Given the description of an element on the screen output the (x, y) to click on. 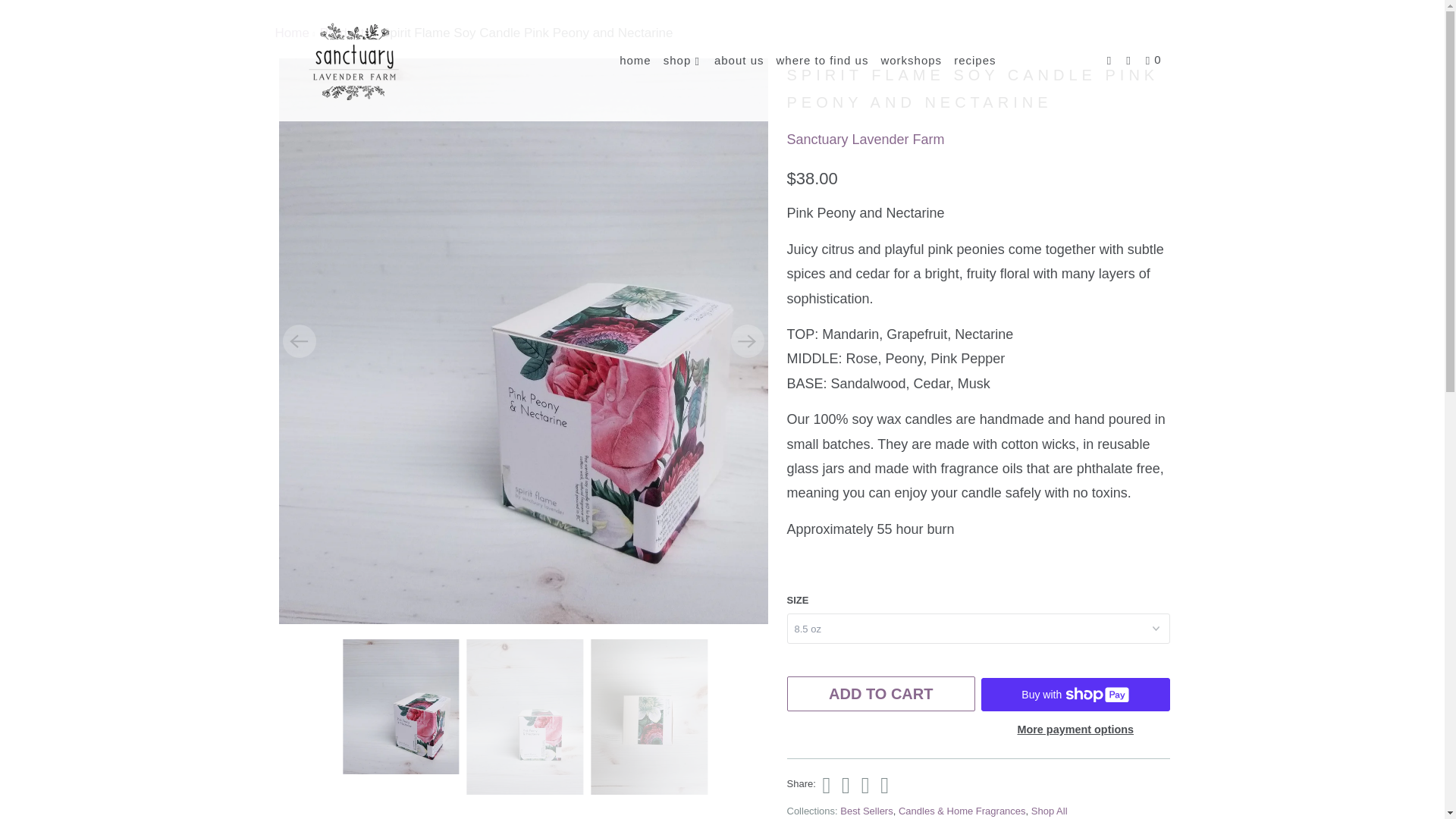
shop (682, 60)
home (634, 59)
Shop All (1048, 810)
Best Sellers (866, 810)
Products (345, 32)
Sanctuary Lavender Farm (865, 139)
Sanctuary Lavender (352, 60)
Sanctuary Lavender (291, 32)
